Given the description of an element on the screen output the (x, y) to click on. 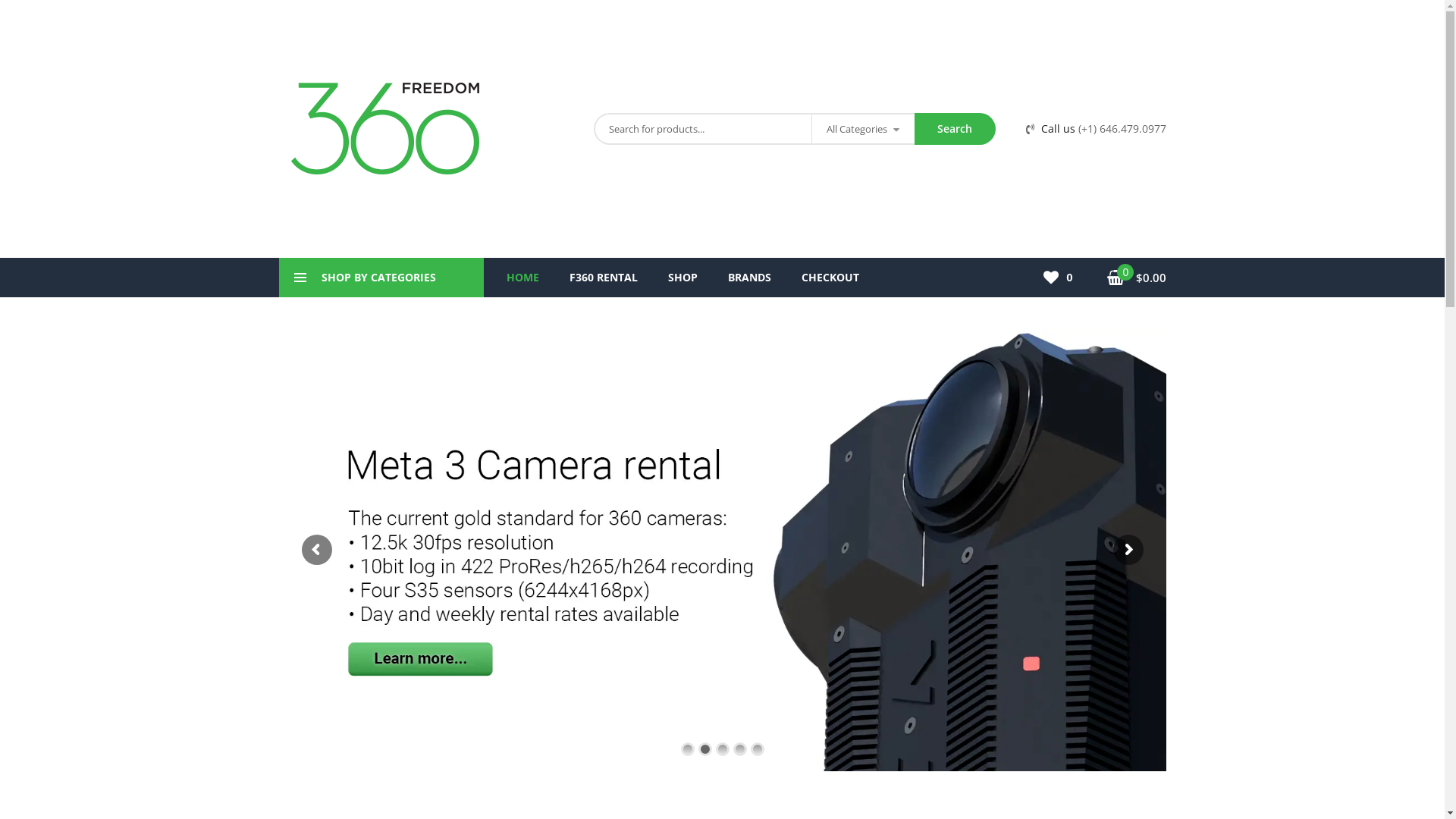
HOME Element type: text (522, 277)
SHOP BY CATEGORIES Element type: text (381, 277)
0
$0.00 Element type: text (1136, 277)
0 Element type: text (1063, 277)
All Categories Element type: text (862, 128)
Call us (+1) 646.479.0977 Element type: text (1095, 128)
SHOP Element type: text (681, 277)
CHECKOUT Element type: text (829, 277)
Search Element type: text (954, 128)
BRANDS Element type: text (749, 277)
F360 RENTAL Element type: text (602, 277)
